Given the description of an element on the screen output the (x, y) to click on. 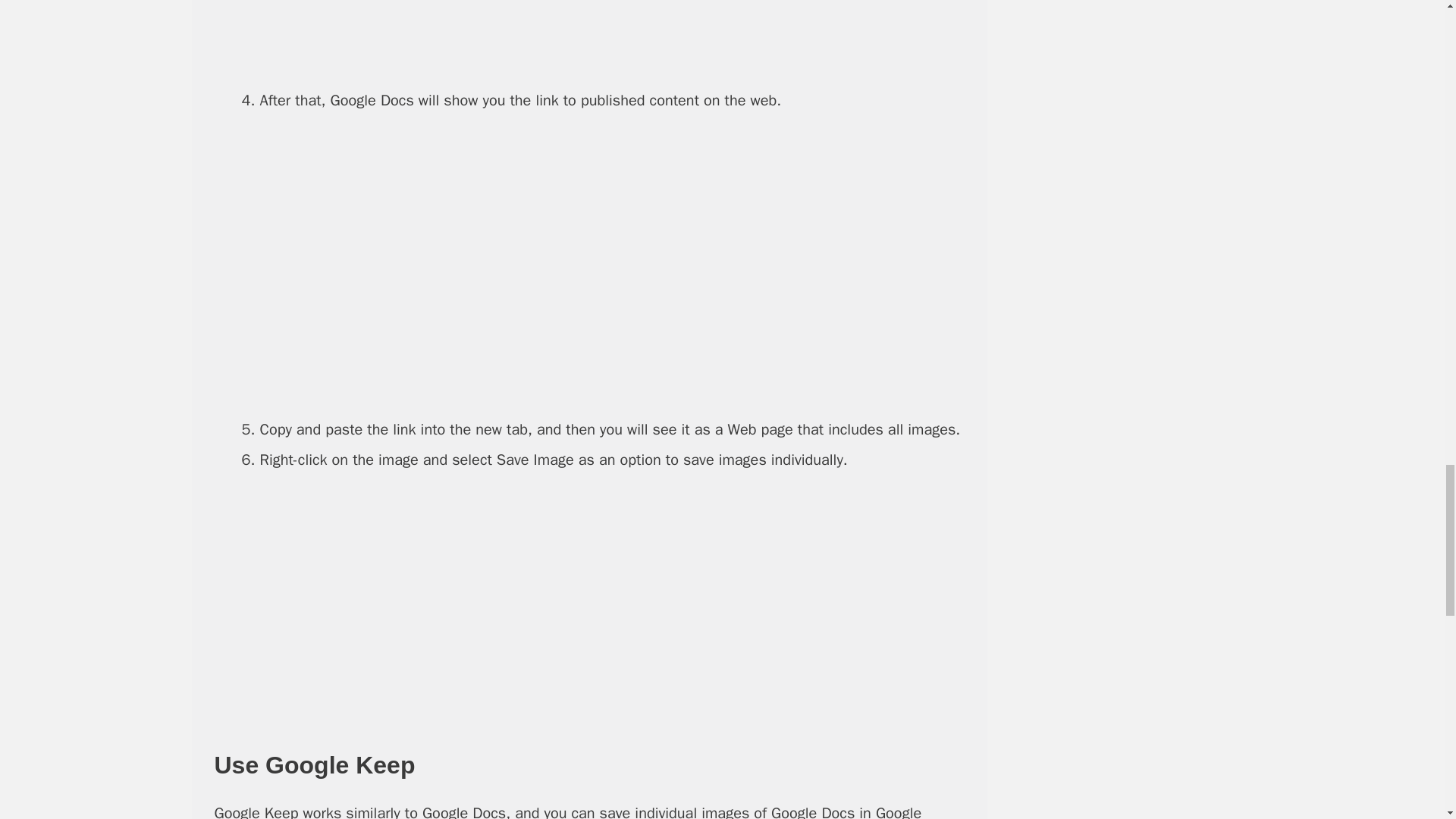
lick-is-ready (611, 265)
opy-paste-the-link-to-open-web-page-then-save-images (611, 606)
lick-ok-to-publish-this-selection (612, 35)
